Given the description of an element on the screen output the (x, y) to click on. 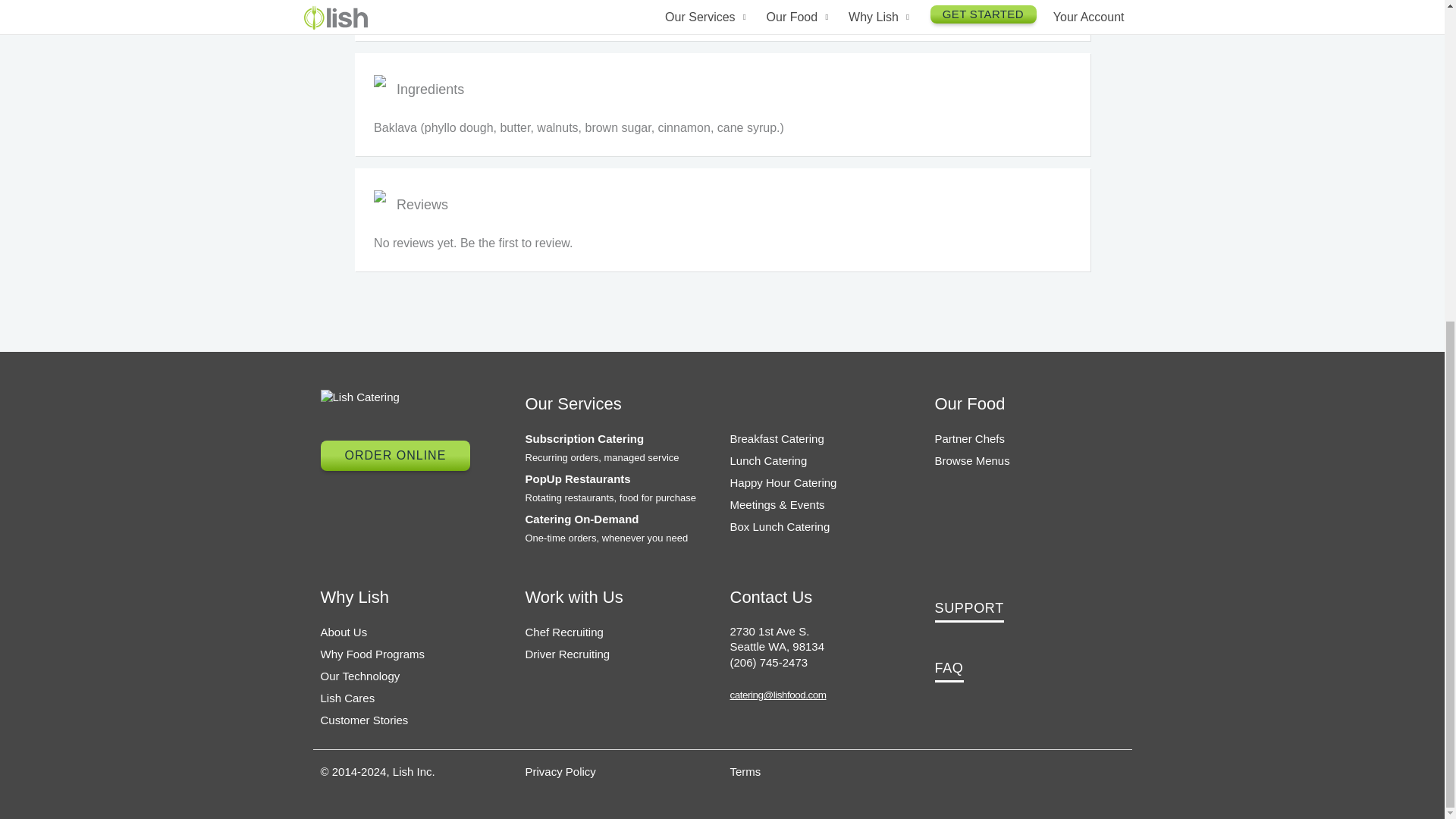
Happy Hour Catering (782, 481)
Partner Chefs (969, 438)
ORDER ONLINE (395, 455)
Box Lunch Catering (779, 526)
Subscription Catering (583, 438)
Lunch Catering (767, 460)
Catering On-Demand (581, 518)
Breakfast Catering (776, 438)
Phone (768, 662)
PopUp Restaurants (577, 478)
